Given the description of an element on the screen output the (x, y) to click on. 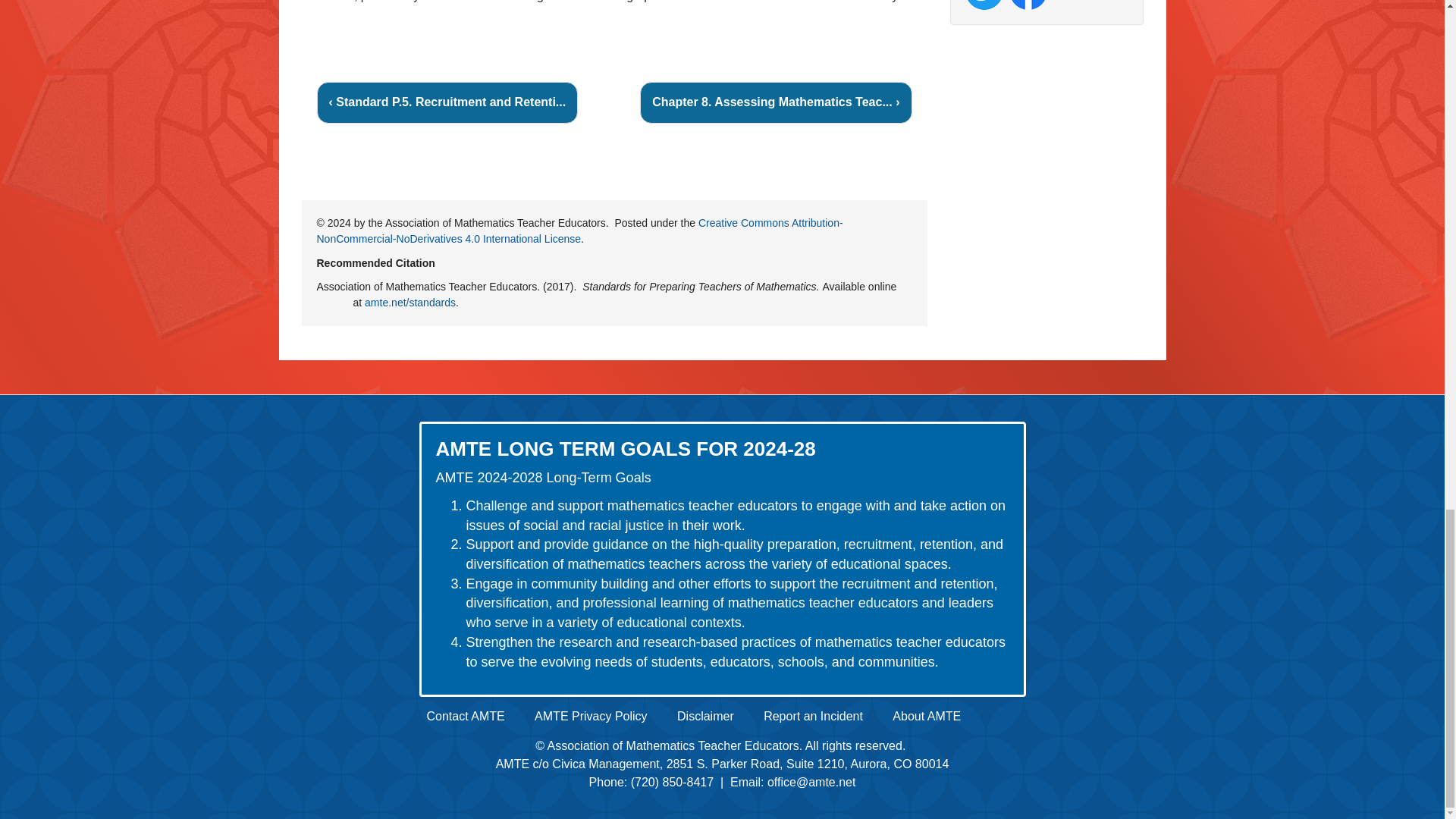
Go to previous page (447, 102)
Go to next page (775, 102)
